Given the description of an element on the screen output the (x, y) to click on. 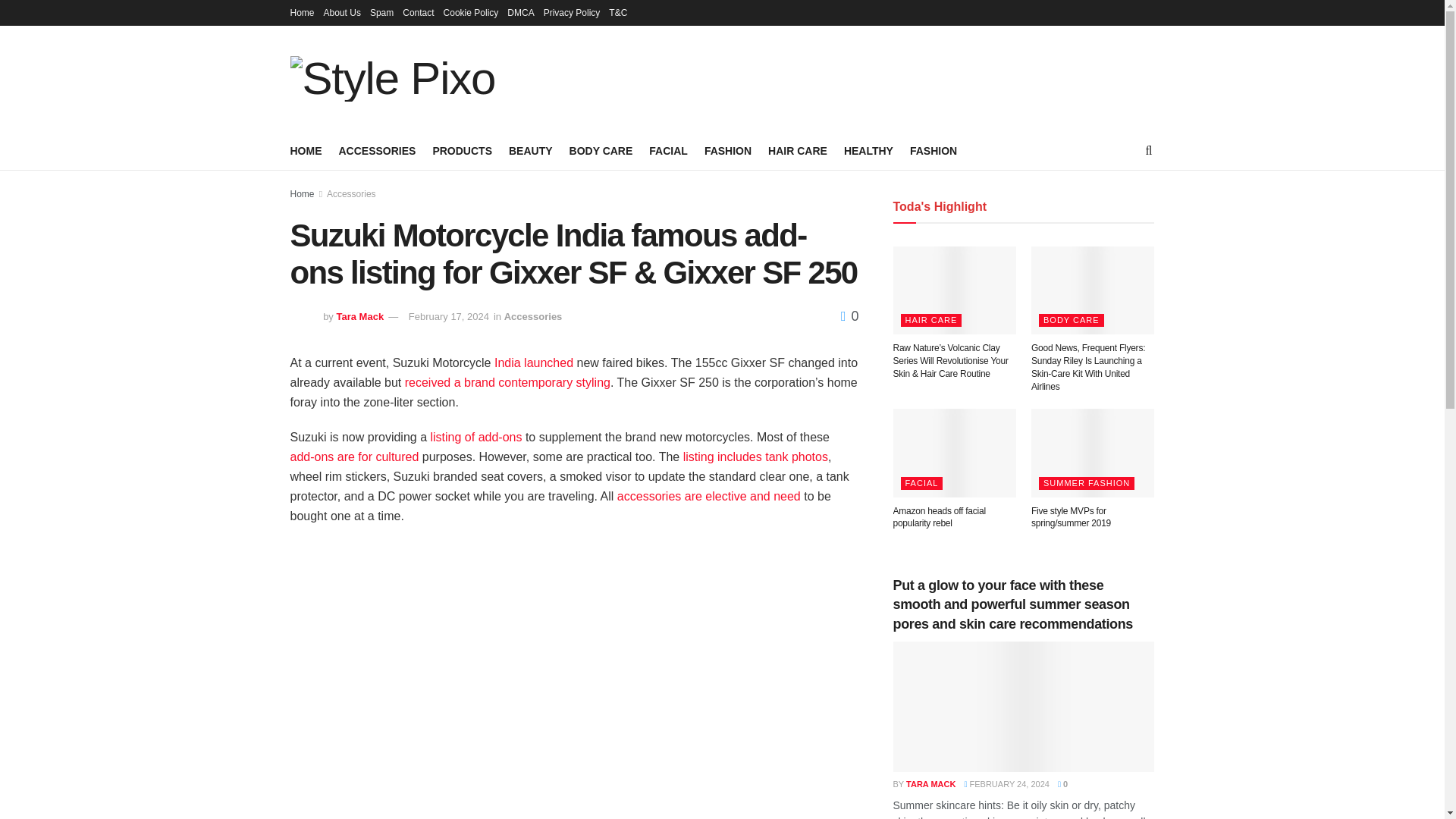
PRODUCTS (462, 150)
BODY CARE (601, 150)
Home (301, 12)
Contact (418, 12)
Spam (381, 12)
FACIAL (668, 150)
HAIR CARE (797, 150)
BEAUTY (530, 150)
DMCA (520, 12)
HOME (305, 150)
